Given the description of an element on the screen output the (x, y) to click on. 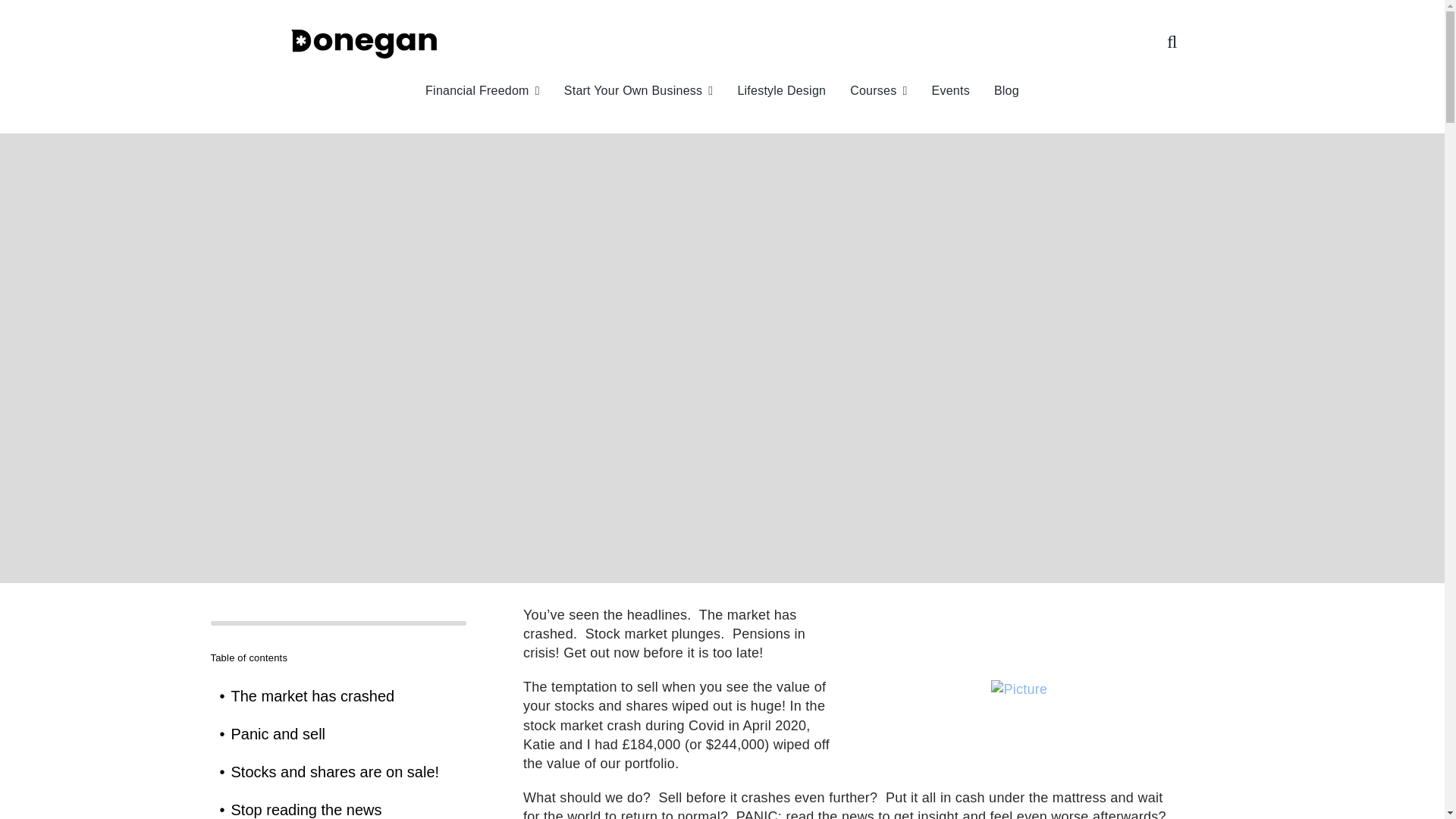
0 (339, 622)
Lifestyle Design (780, 90)
Start Your Own Business (638, 90)
Financial Freedom (482, 90)
Courses (878, 90)
